Given the description of an element on the screen output the (x, y) to click on. 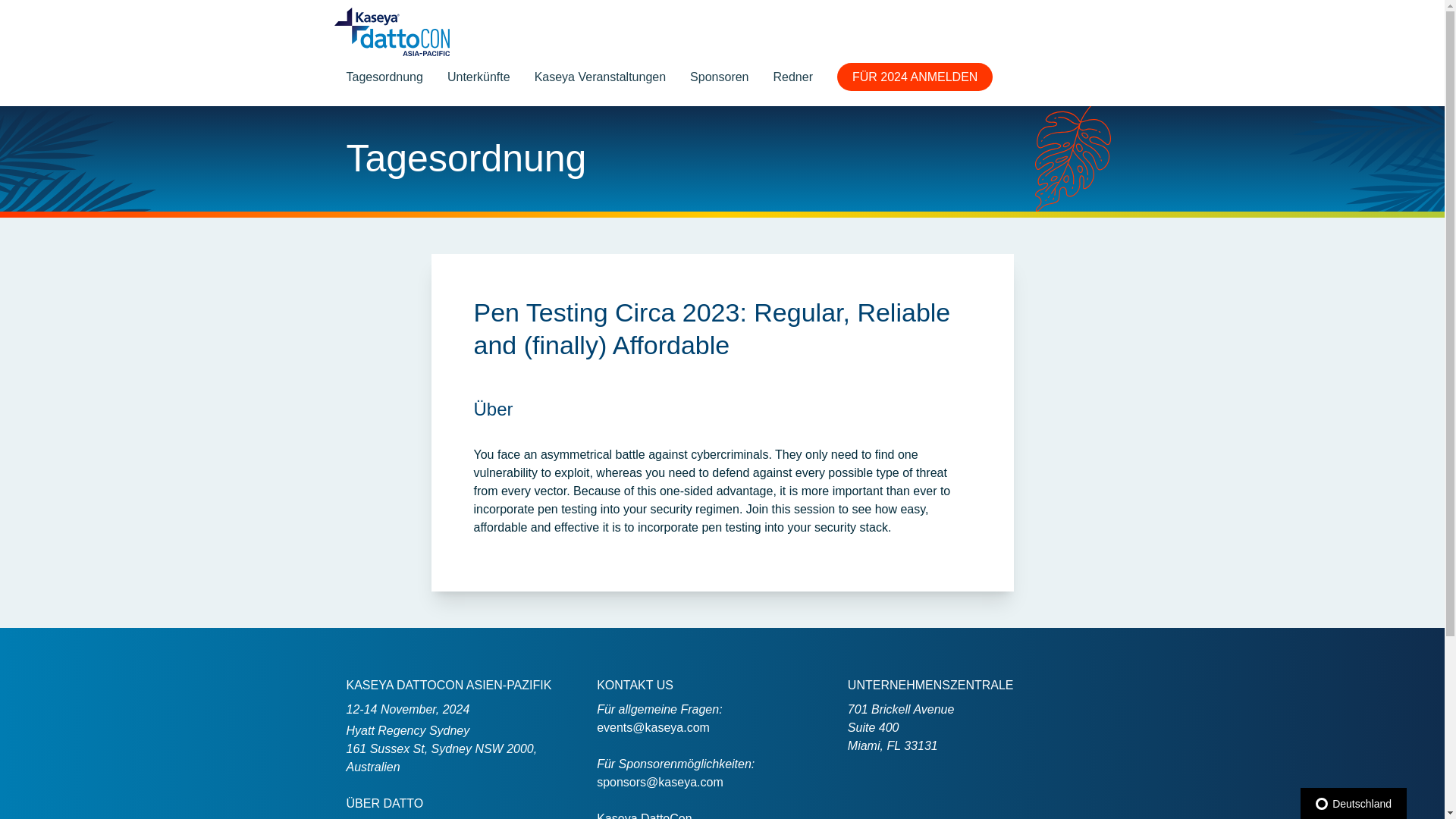
Kaseya Veranstaltungen (599, 76)
Deutschland (1353, 803)
Tagesordnung (384, 76)
Kaseya DattoCon (643, 815)
Redner (792, 76)
Sponsoren (719, 76)
